Given the description of an element on the screen output the (x, y) to click on. 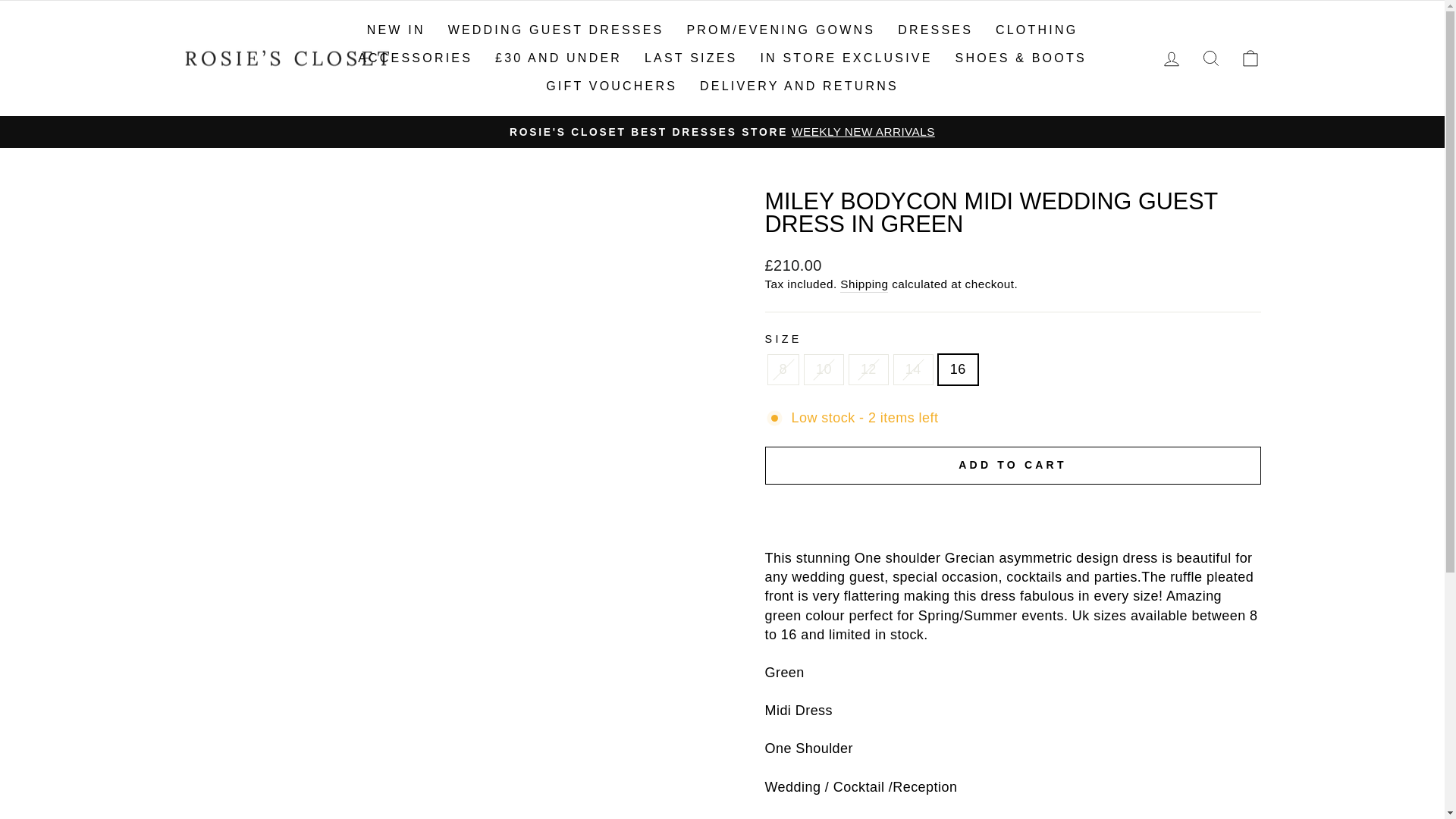
DRESSES (935, 29)
WEDDING GUEST DRESSES (555, 29)
NEW IN (395, 29)
